Given the description of an element on the screen output the (x, y) to click on. 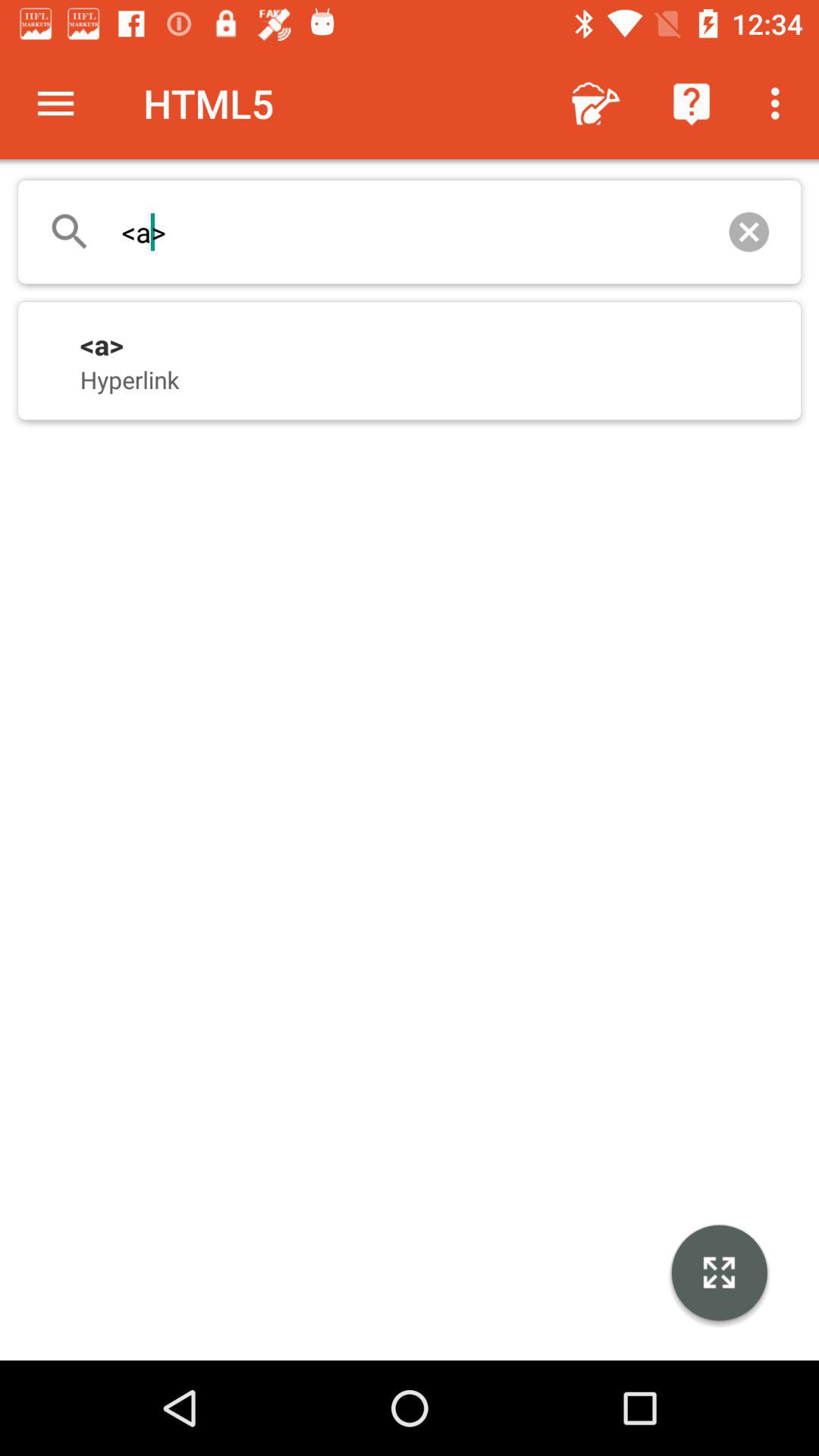
click on the search icon (70, 231)
